Given the description of an element on the screen output the (x, y) to click on. 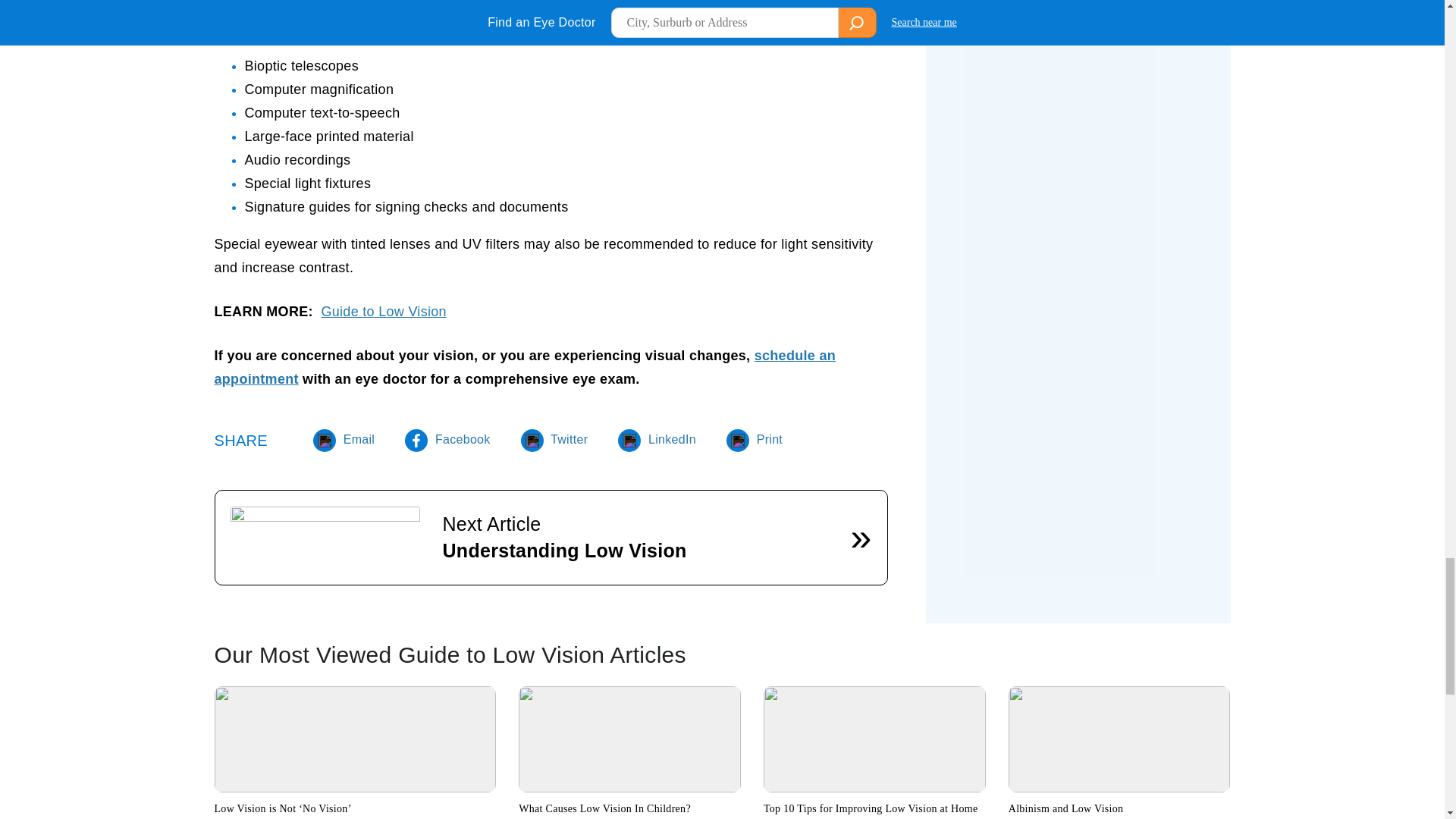
Print (754, 439)
Understanding Low Vision (564, 550)
schedule an appointment (524, 367)
Facebook (446, 439)
LinkedIn (656, 439)
Twitter (554, 439)
Guide to Low Vision (382, 311)
Email (343, 439)
